Given the description of an element on the screen output the (x, y) to click on. 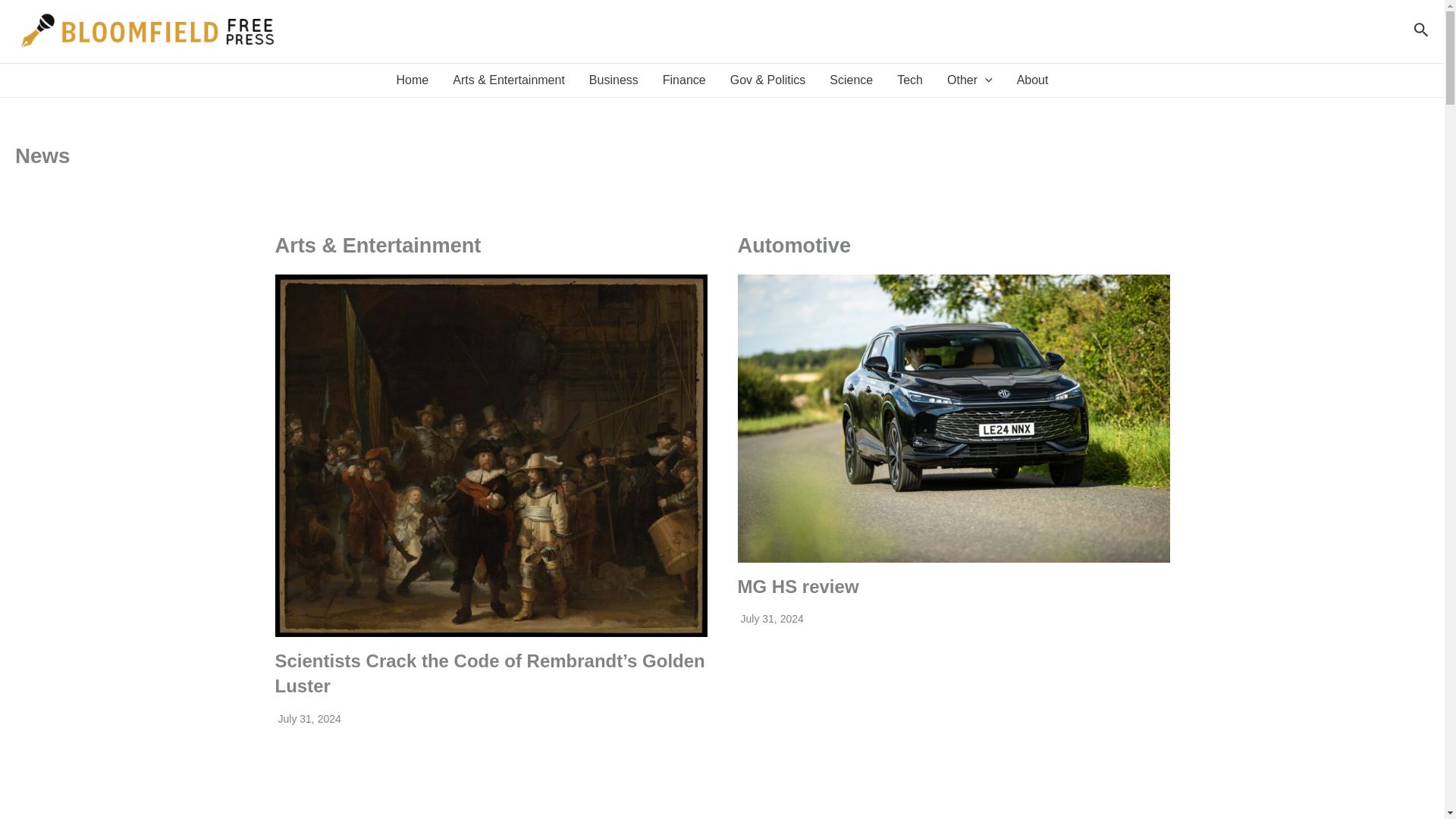
Tech (909, 80)
Other (969, 80)
Finance (683, 80)
Business (613, 80)
Science (850, 80)
About (1032, 80)
Home (412, 80)
